Given the description of an element on the screen output the (x, y) to click on. 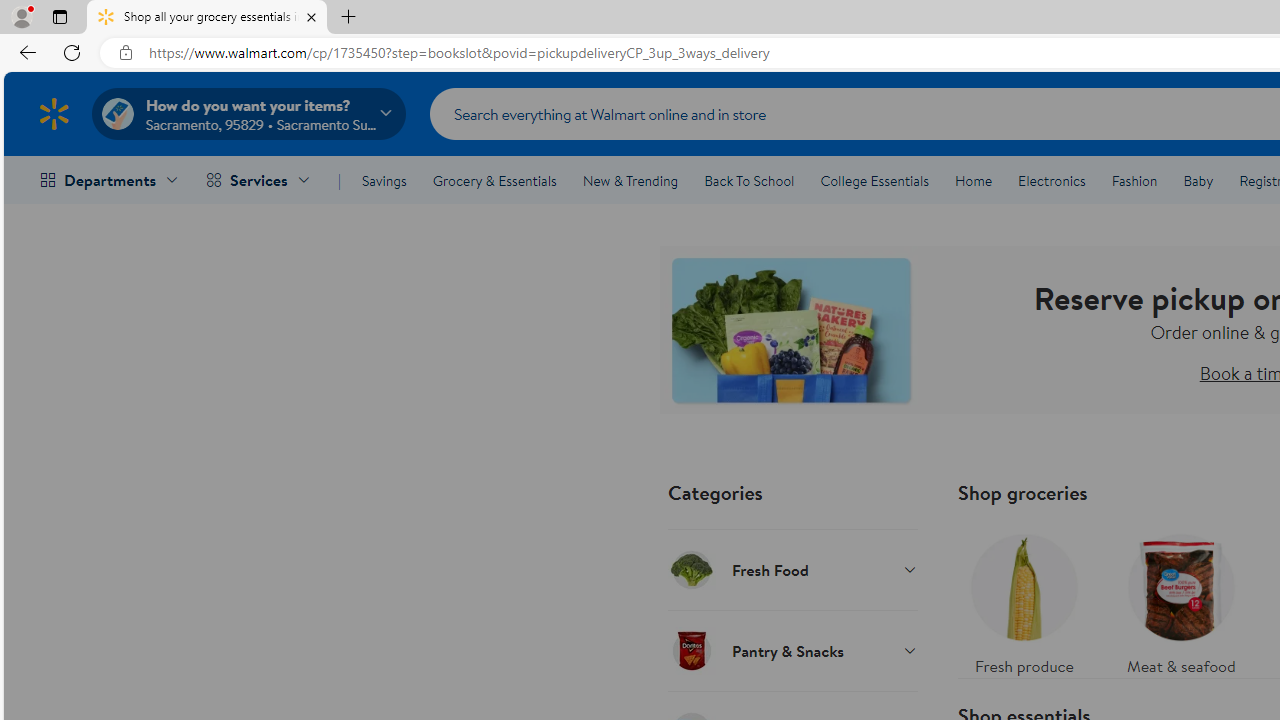
College Essentials (874, 180)
College Essentials (874, 180)
New & Trending (630, 180)
Fashion (1134, 180)
Pantry & Snacks (792, 650)
Walmart Homepage (53, 113)
Fresh produce (1024, 599)
Electronics (1051, 180)
Savings (384, 180)
